Given the description of an element on the screen output the (x, y) to click on. 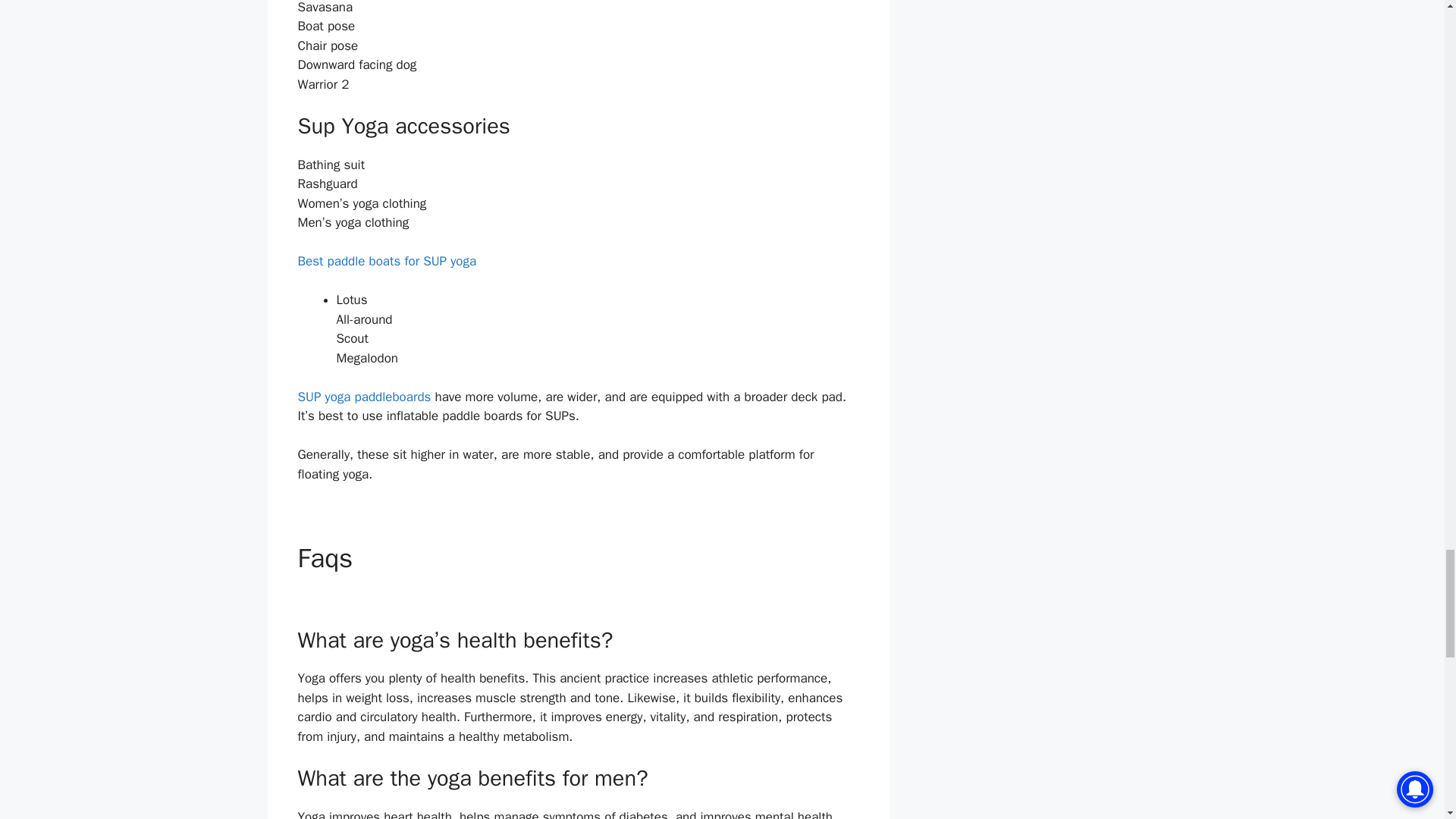
Best paddle boats for SUP yoga (386, 261)
SUP yoga paddleboards (363, 396)
